Given the description of an element on the screen output the (x, y) to click on. 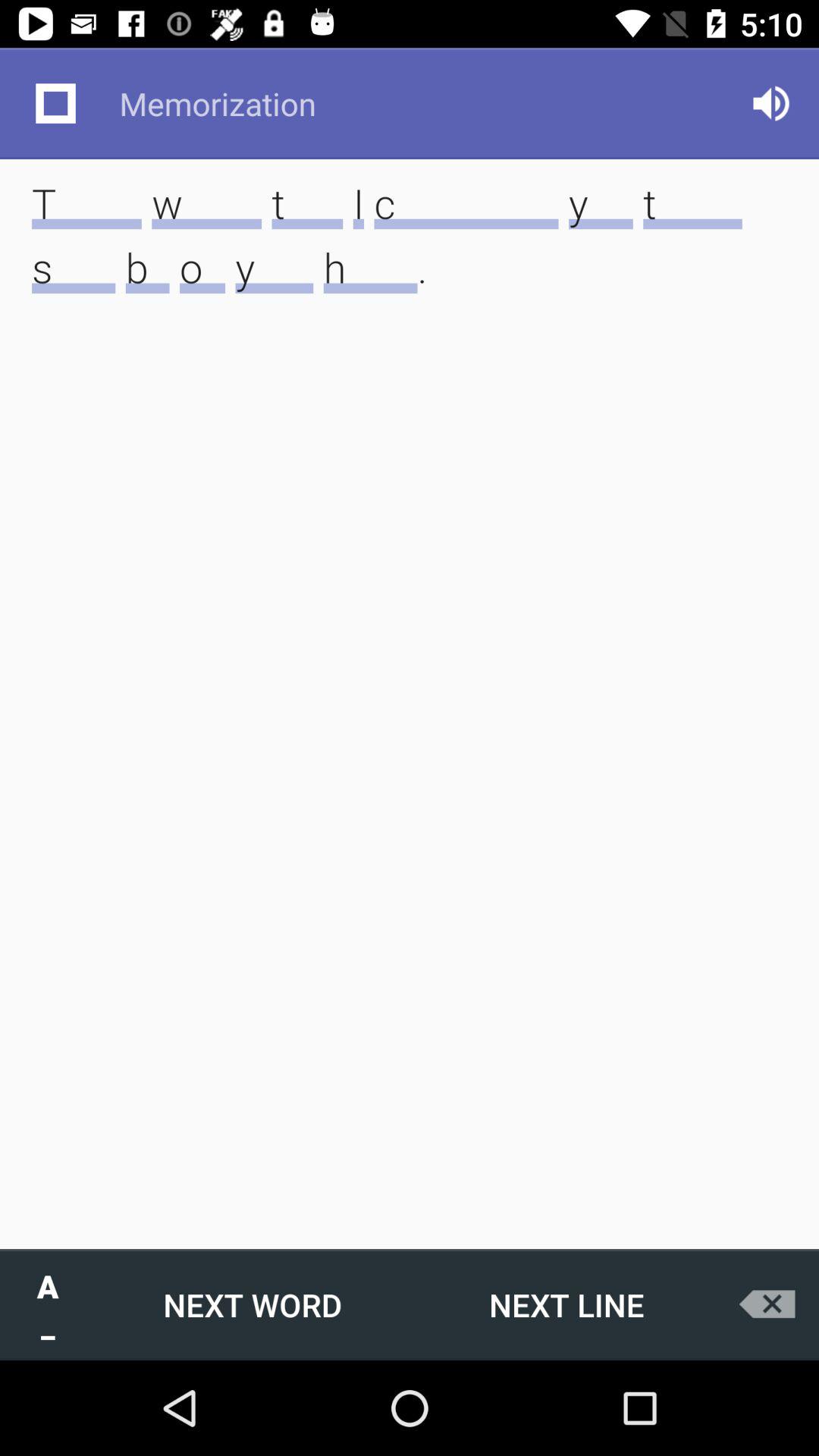
turn on the app to the left of memorization icon (55, 103)
